Given the description of an element on the screen output the (x, y) to click on. 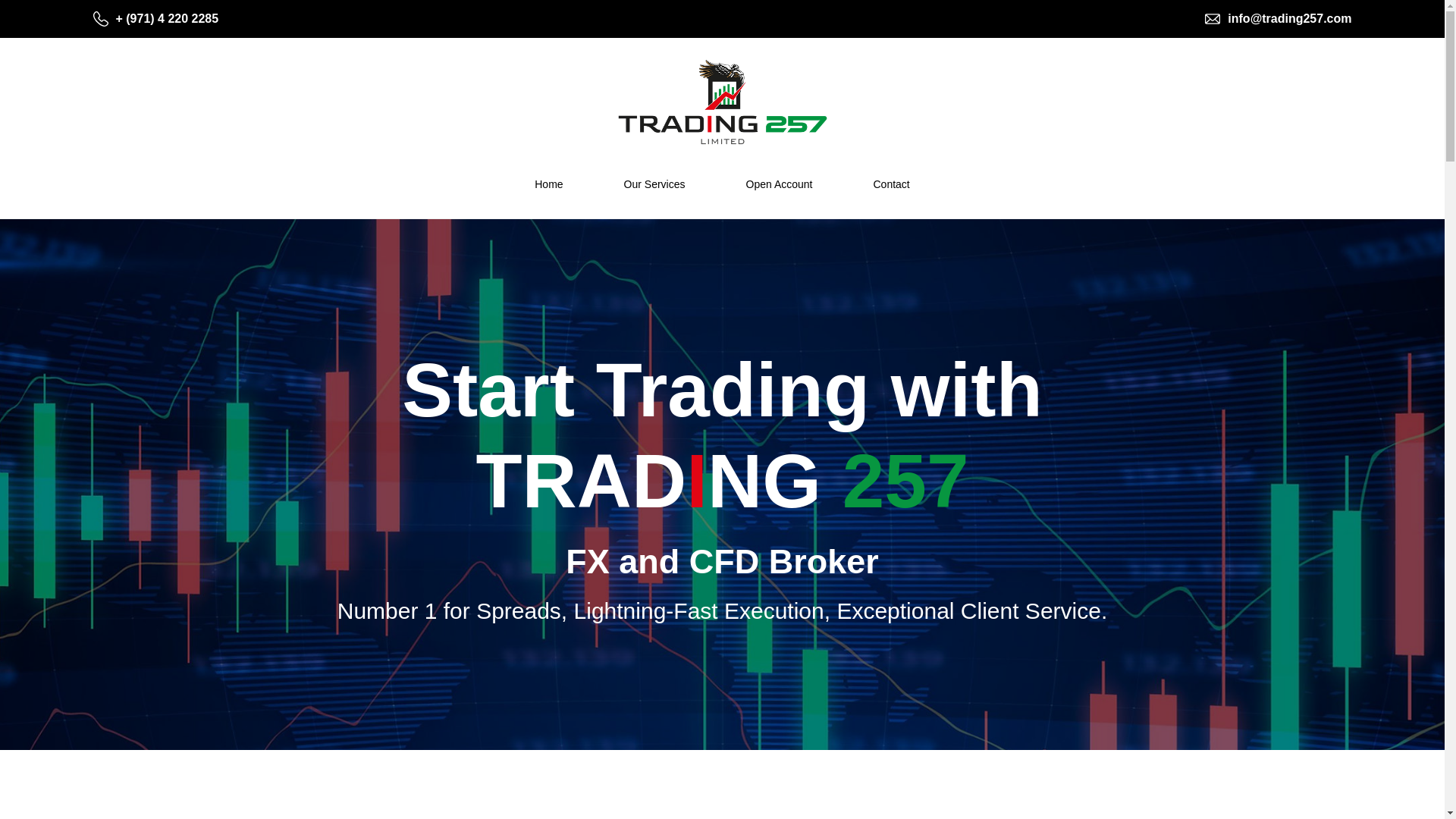
Open Account (778, 184)
Contact (890, 184)
Our Services (654, 184)
